Given the description of an element on the screen output the (x, y) to click on. 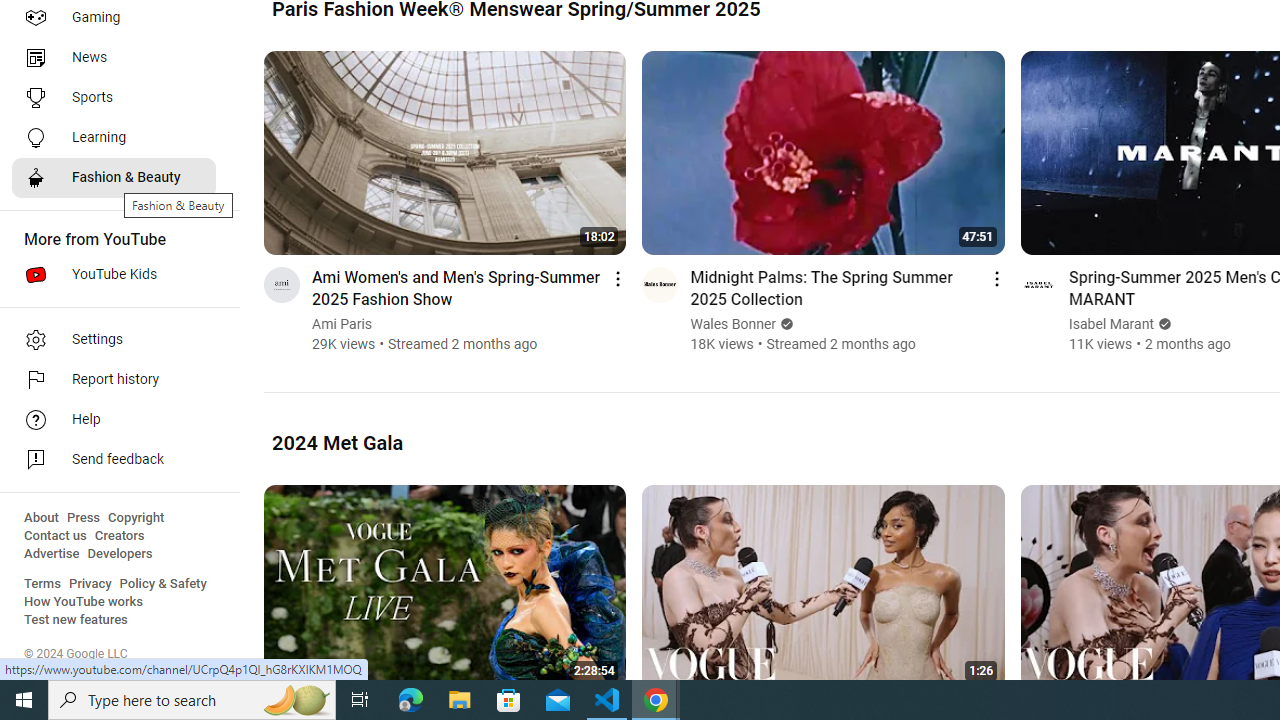
Advertise (51, 554)
Creators (118, 536)
Wales Bonner (733, 323)
YouTube Kids (113, 274)
Action menu (996, 277)
Report history (113, 380)
Verified (1162, 323)
Help (113, 419)
Ami Paris (342, 323)
Go to channel (1038, 284)
Settings (113, 339)
Isabel Marant (1111, 323)
Copyright (136, 518)
